Given the description of an element on the screen output the (x, y) to click on. 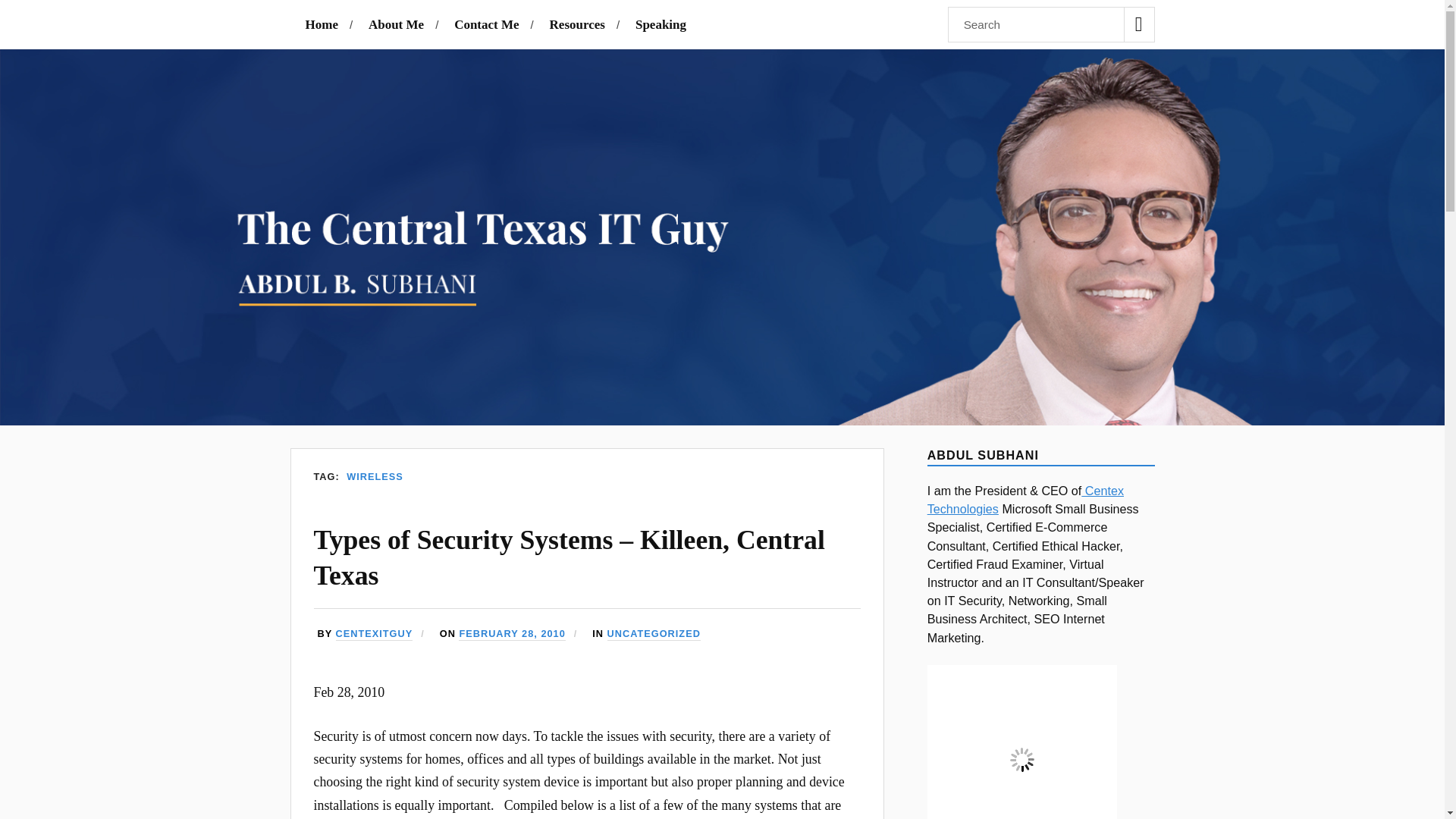
Speaking (659, 24)
Contact Me (486, 24)
Centex Technologies (1025, 499)
FEBRUARY 28, 2010 (511, 634)
CENTEXITGUY (374, 634)
Resources (577, 24)
UNCATEGORIZED (653, 634)
Home (320, 24)
Posts by centexitguy (374, 634)
About Me (395, 24)
